Given the description of an element on the screen output the (x, y) to click on. 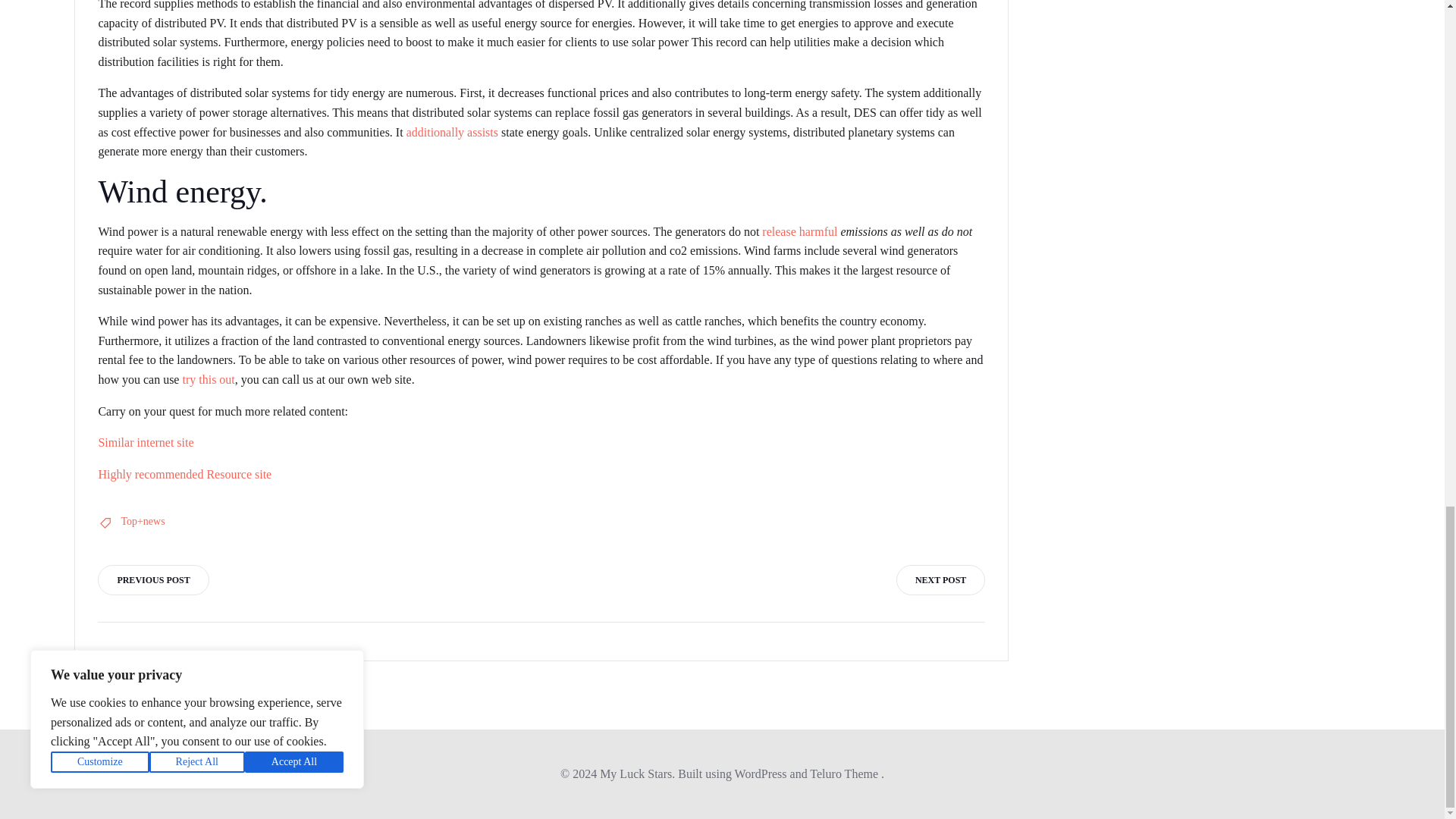
NEXT POST (940, 580)
Similar internet site (145, 441)
PREVIOUS POST (152, 580)
try this out (208, 379)
additionally assists (451, 132)
release harmful (799, 231)
Highly recommended Resource site (183, 473)
